Given the description of an element on the screen output the (x, y) to click on. 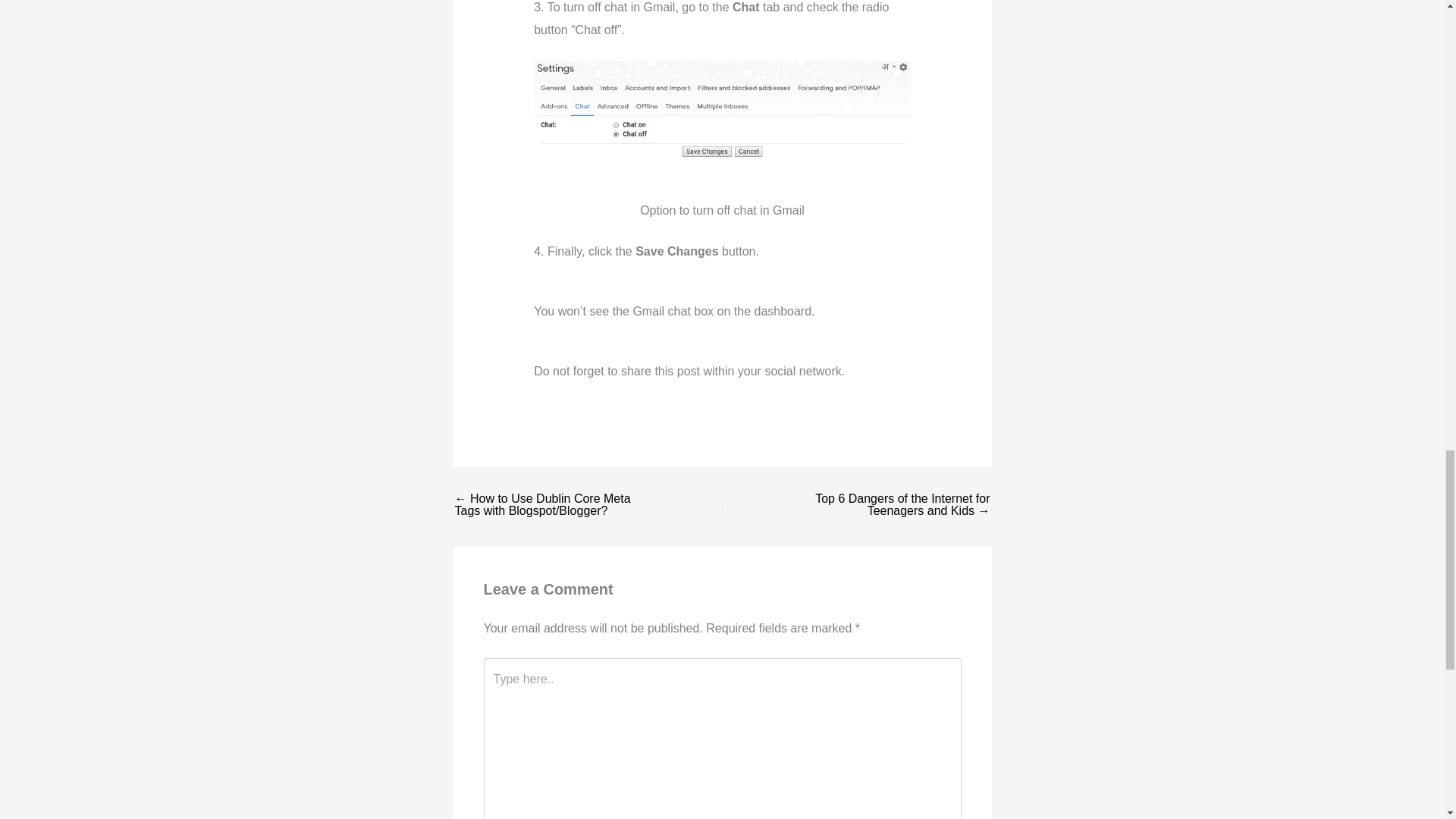
Top 6 Dangers of the Internet for Teenagers and Kids (882, 504)
